Given the description of an element on the screen output the (x, y) to click on. 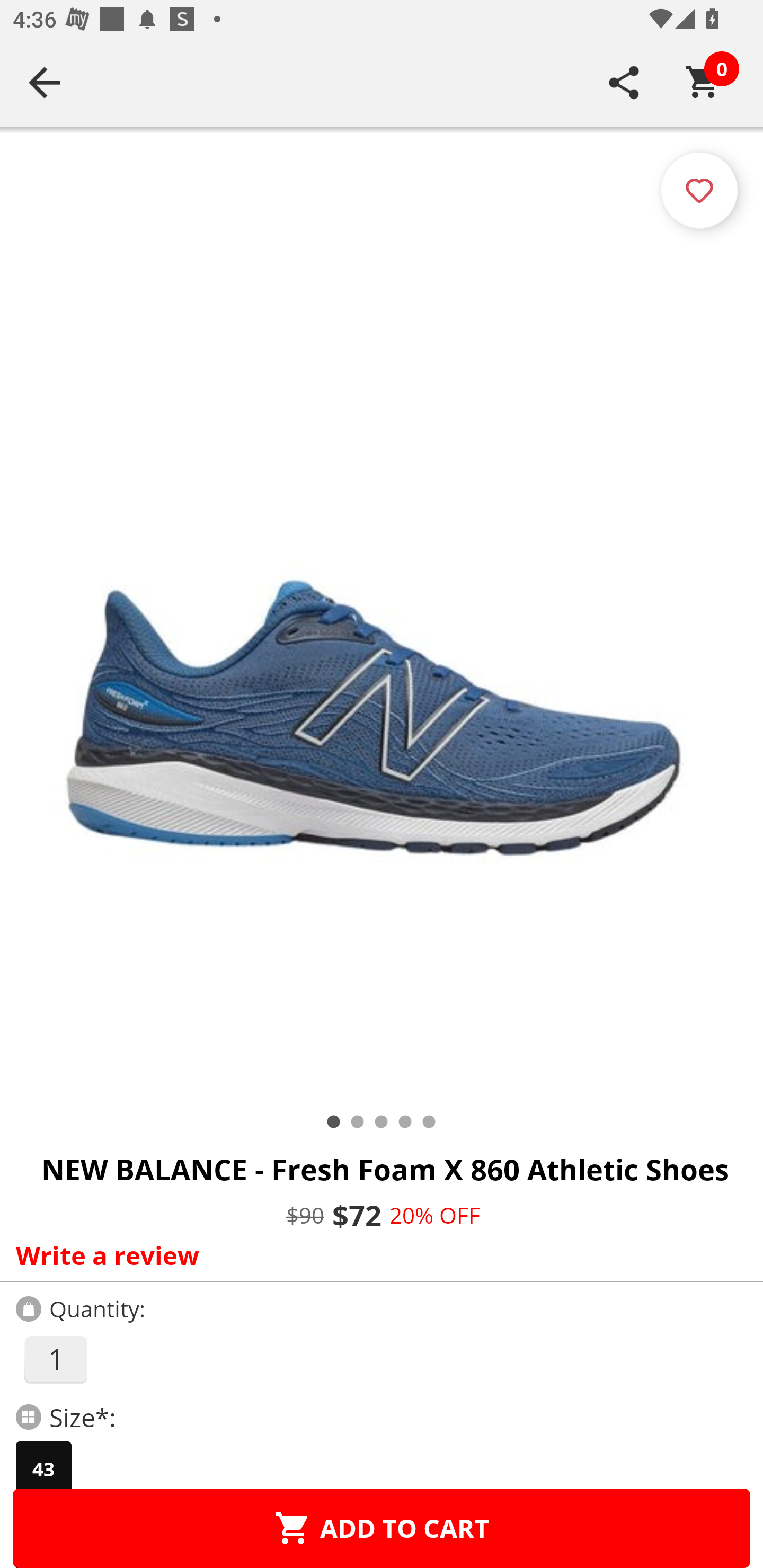
Navigate up (44, 82)
SHARE (623, 82)
Cart (703, 81)
Write a review (377, 1255)
1 (55, 1358)
43 (43, 1468)
ADD TO CART (381, 1528)
